Given the description of an element on the screen output the (x, y) to click on. 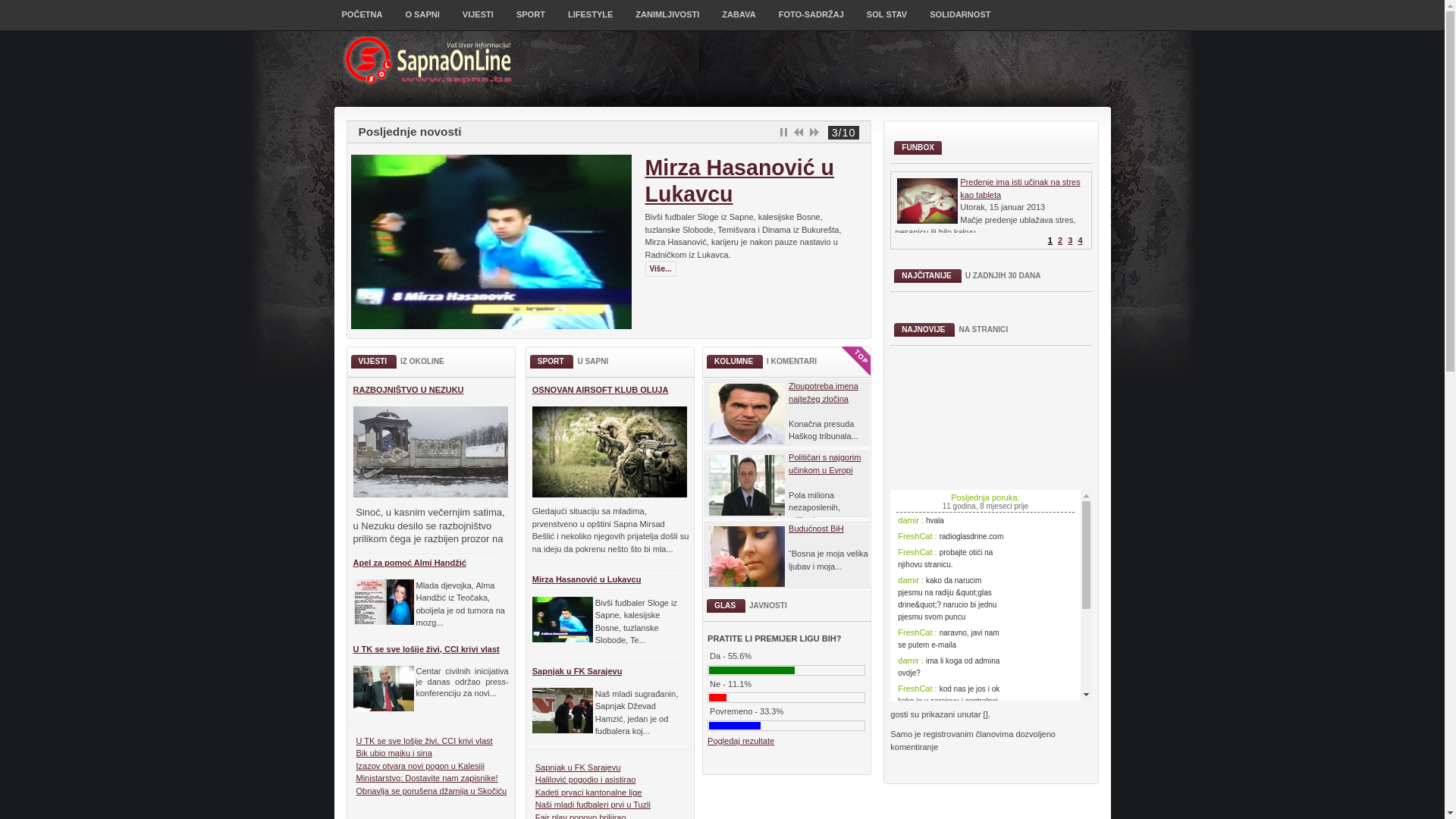
SOL STAV Element type: text (886, 20)
Izazov otvara novi pogon u Kalesiji Element type: text (420, 765)
Pogledaj rezultate Element type: text (740, 740)
2 Element type: text (1059, 239)
Osnovan Airsoft klub Oluja Element type: hover (798, 131)
ZABAVA Element type: text (738, 20)
"src":"http://sapna.ba/grafika/POINT.swf" Element type: hover (1015, 417)
OSNOVAN AIRSOFT KLUB OLUJA Element type: text (600, 389)
Pause Element type: hover (783, 131)
SOLIDARNOST Element type: text (959, 20)
VIJESTI Element type: text (478, 20)
Bik ubio majku i sina Element type: text (394, 752)
Sapnjak u FK Sarajevu Element type: text (577, 670)
Kadeti prvaci kantonalne lige Element type: text (588, 792)
Ministarstvo: Dostavite nam zapisnike! Element type: text (427, 777)
O SAPNI Element type: text (421, 20)
Sapnjak u FK Sarajevu Element type: text (578, 766)
LIFESTYLE Element type: text (590, 20)
SPORT Element type: text (530, 20)
3 Element type: text (1069, 239)
Sapnjak u FK Sarajevu Element type: hover (814, 131)
4 Element type: text (1079, 239)
ZANIMLJIVOSTI Element type: text (666, 20)
SapnaOnLine Element type: hover (430, 60)
Osnovan Airsoft klub Oluja Element type: text (728, 180)
1 Element type: text (1050, 239)
